Given the description of an element on the screen output the (x, y) to click on. 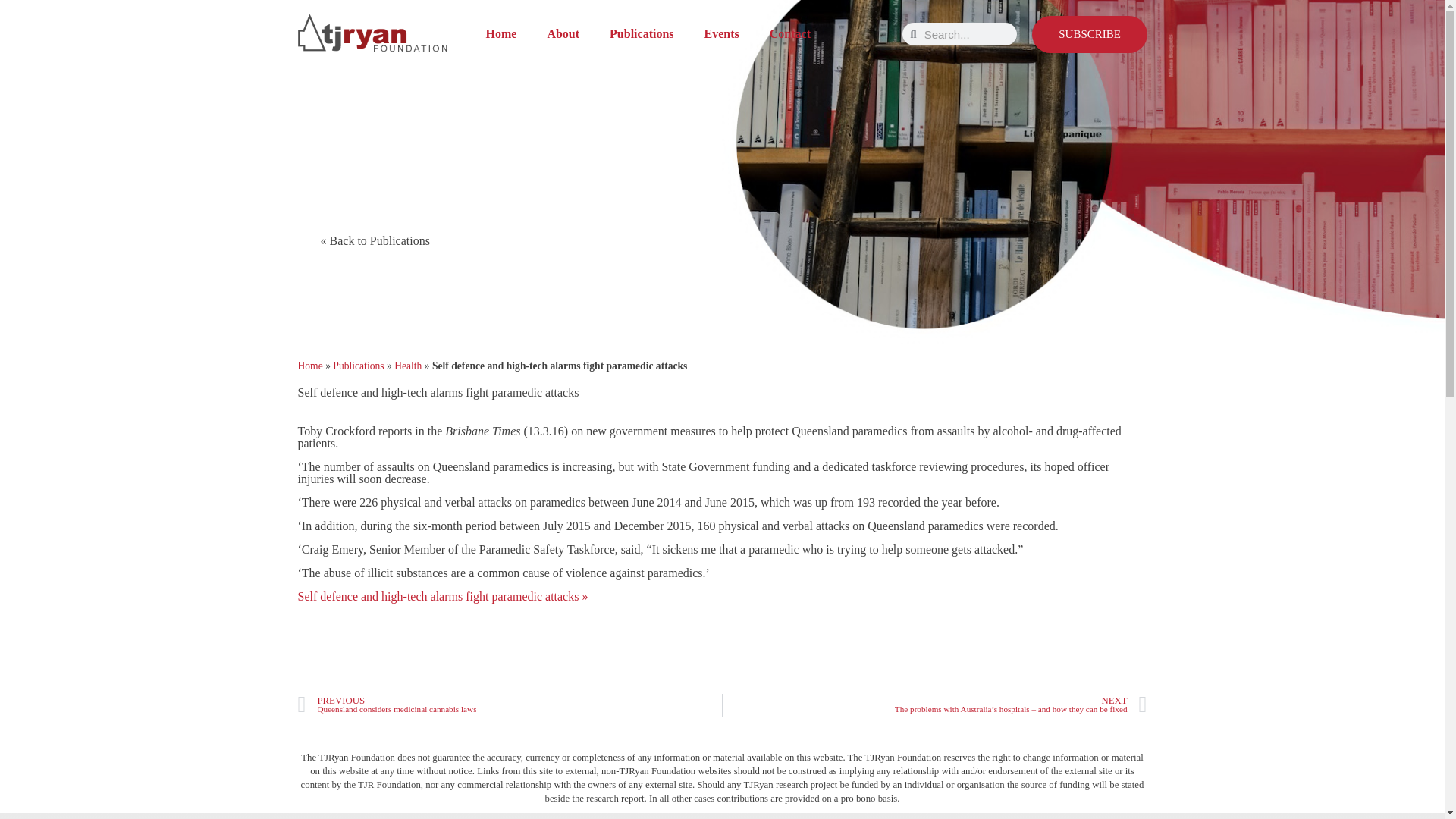
Events (721, 33)
About (562, 33)
Publications (641, 33)
Home (500, 33)
SUBSCRIBE (1089, 33)
Contact (789, 33)
